Given the description of an element on the screen output the (x, y) to click on. 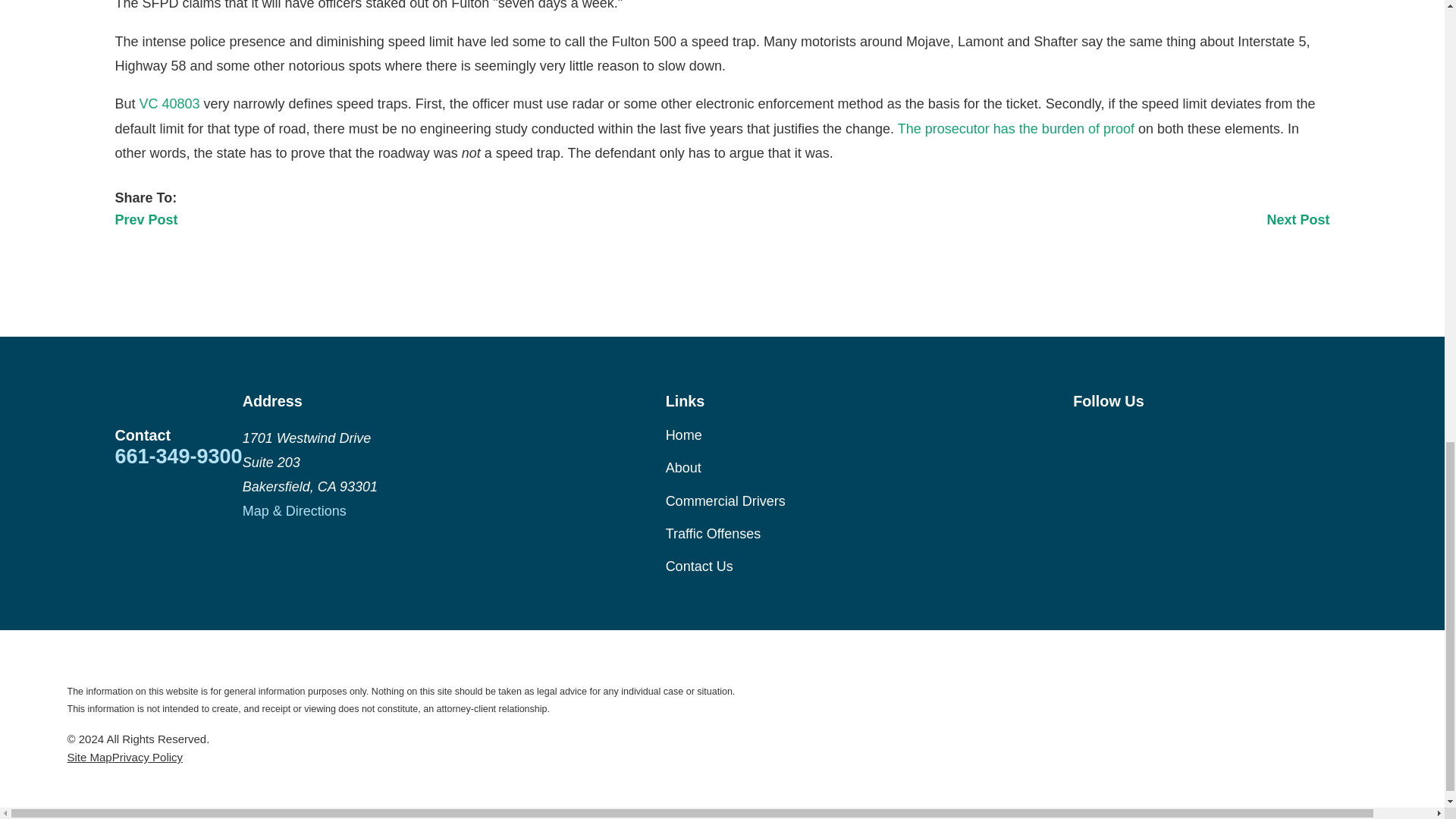
Are Speed Traps Entrapment? (1016, 128)
VC 40803 (169, 103)
